Given the description of an element on the screen output the (x, y) to click on. 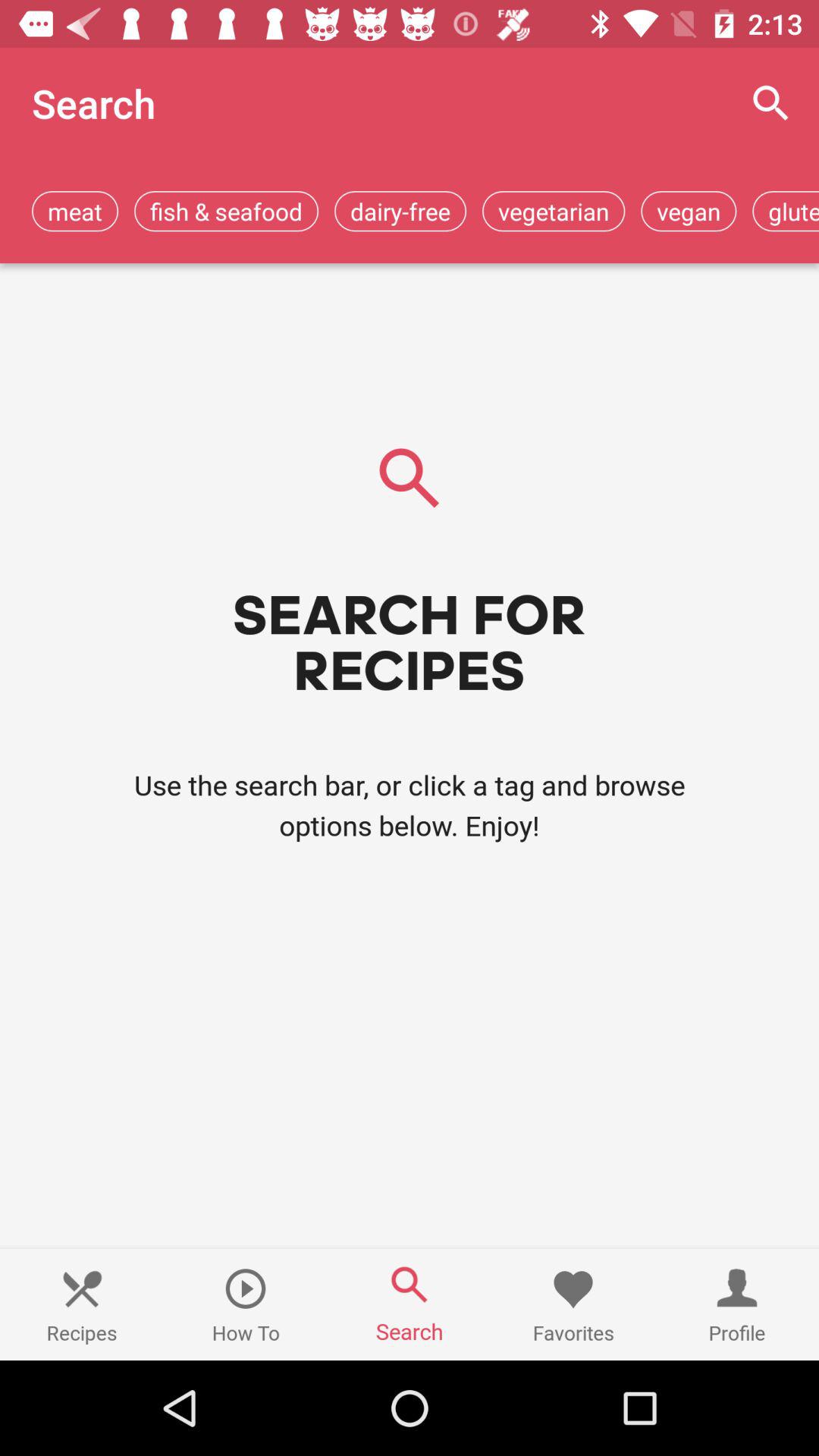
open dairy-free icon (400, 211)
